Given the description of an element on the screen output the (x, y) to click on. 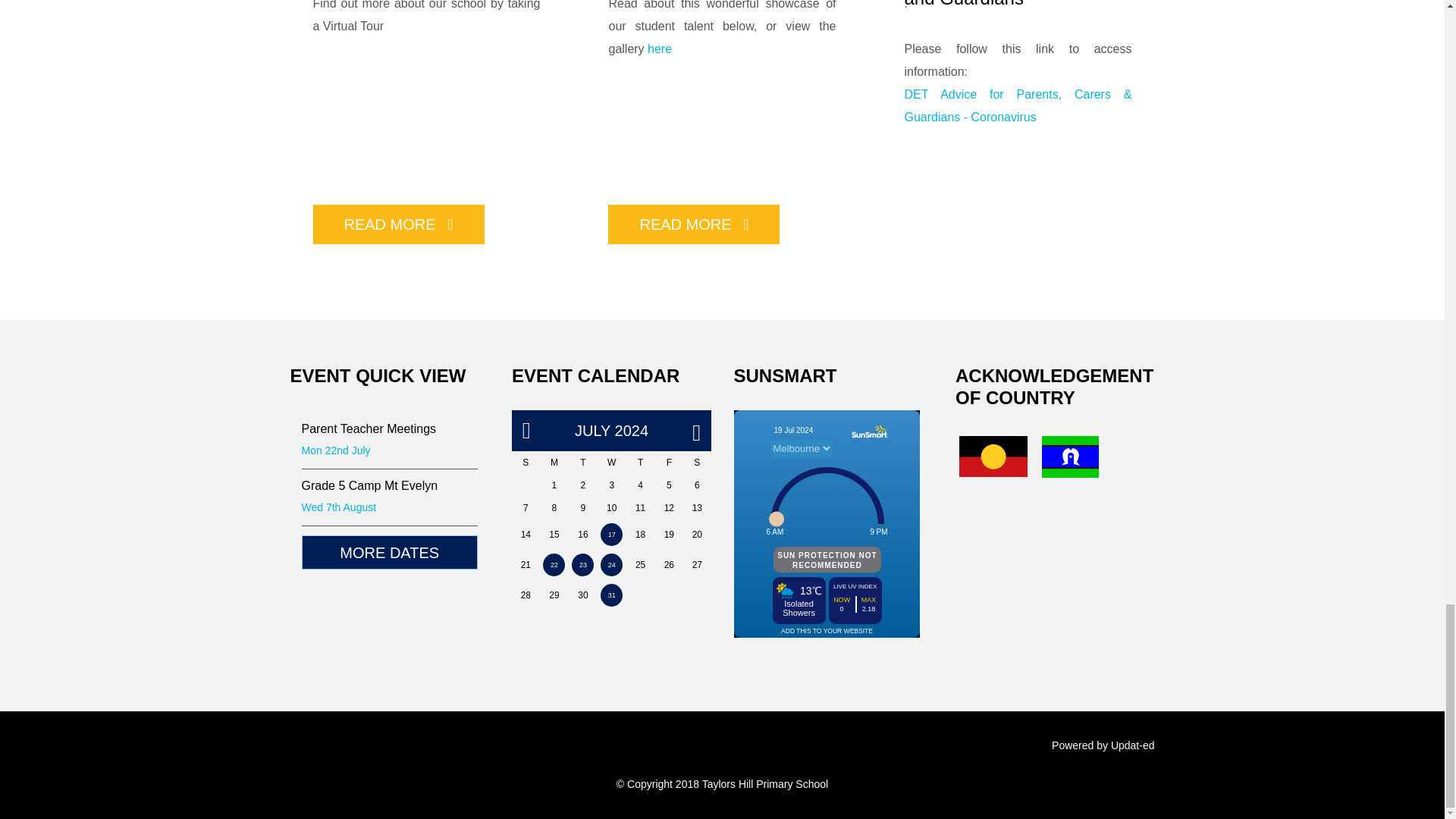
DET Advice for Parents - Coronavirus (1017, 105)
Previous Month (526, 430)
Next Month (696, 430)
Gallery Zine Fest (659, 48)
